Given the description of an element on the screen output the (x, y) to click on. 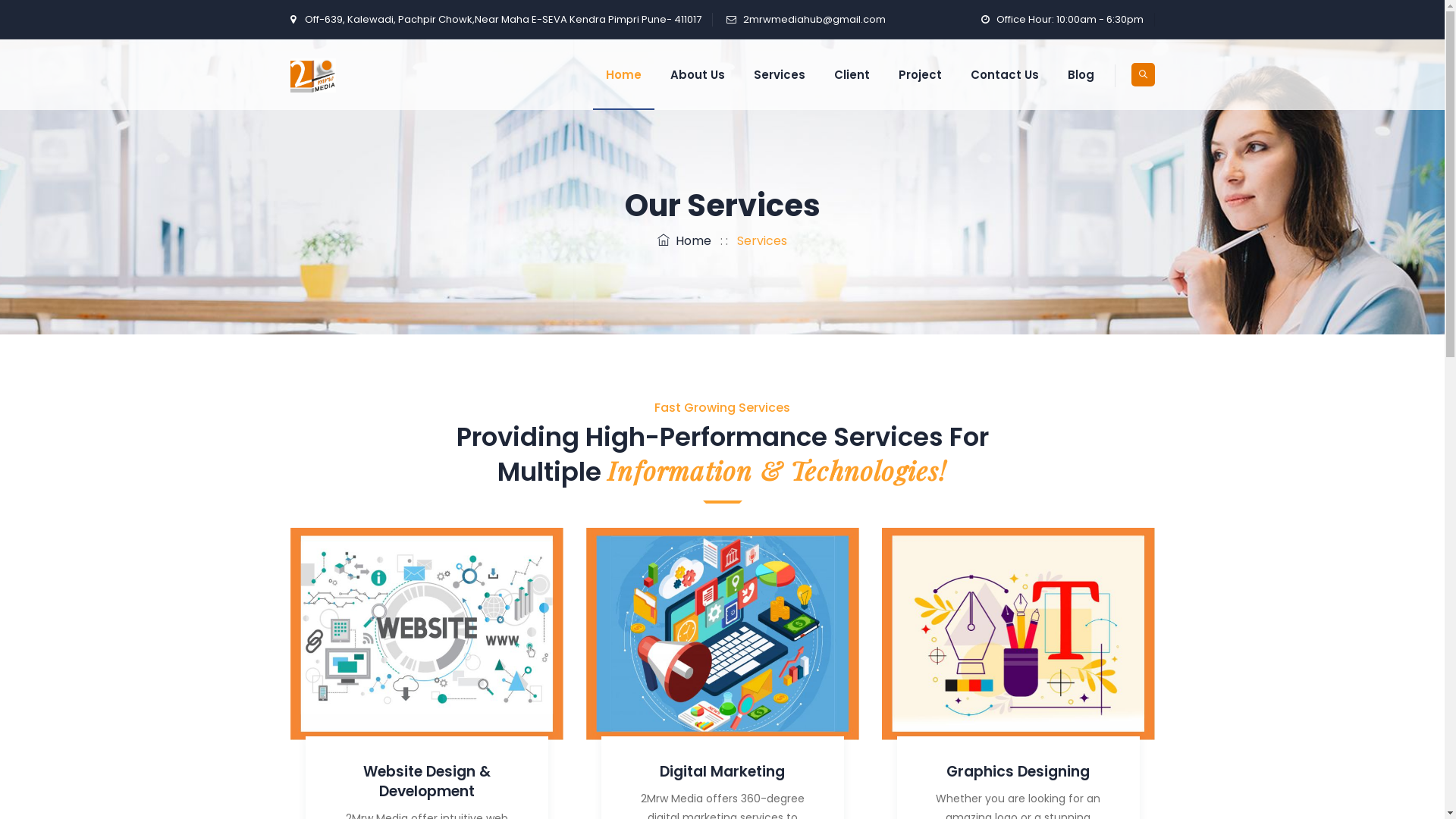
Services Element type: text (778, 74)
About Us Element type: text (696, 74)
2mrwmediahub@gmail.com Element type: text (814, 19)
Client Element type: text (850, 74)
Project Element type: text (919, 74)
Graphics Designing Element type: text (1017, 771)
Digital Marketing Element type: text (721, 771)
  Home Element type: text (684, 240)
Contact Us Element type: text (1004, 74)
Home Element type: text (623, 74)
Blog Element type: text (1080, 74)
Website Design & Development Element type: text (425, 781)
